Given the description of an element on the screen output the (x, y) to click on. 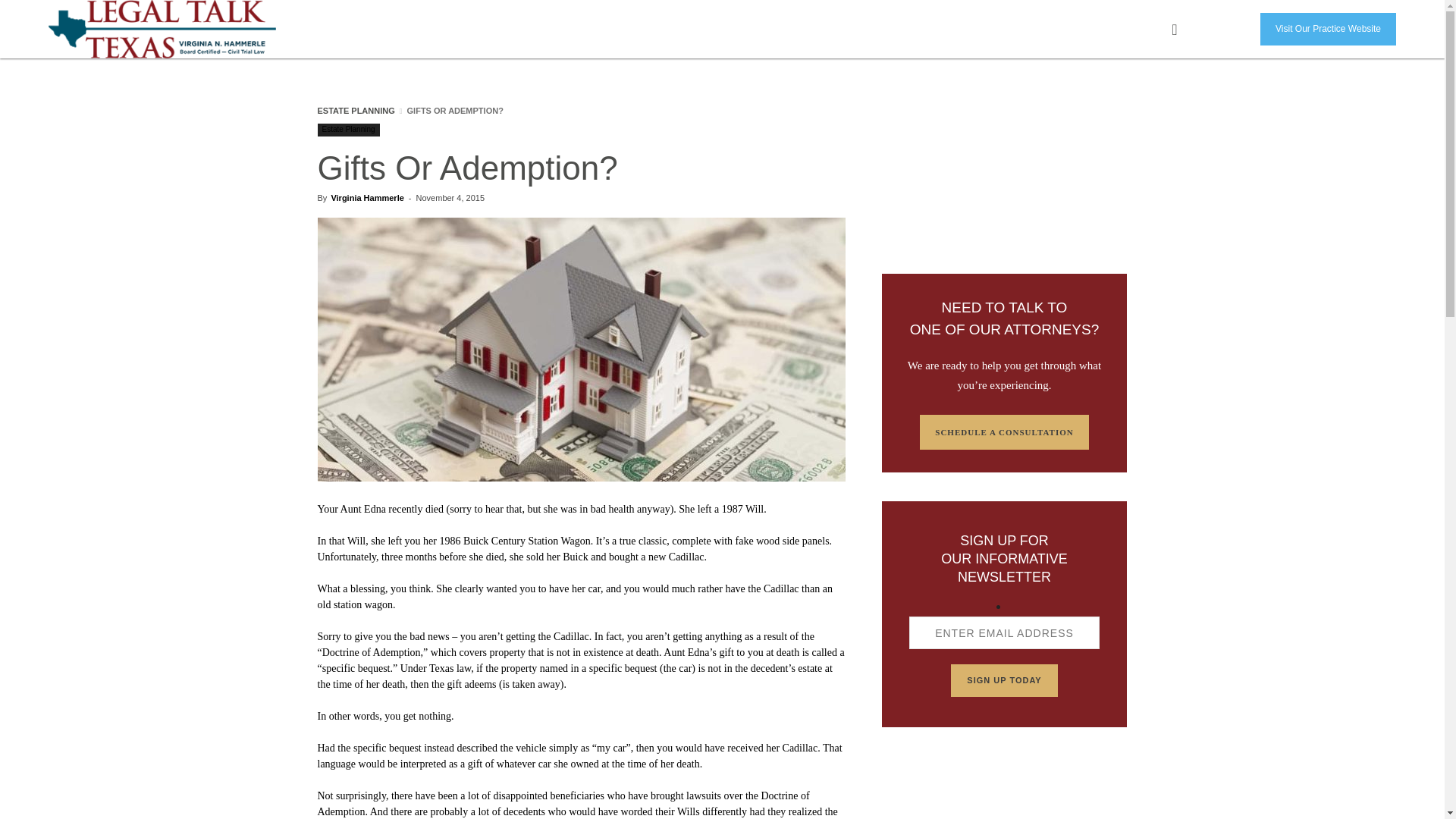
View all articles in Estate Planning (355, 110)
Visit Our Practice Website (1328, 29)
Sign Up Today (1003, 680)
Estate Planning (347, 129)
Virginia Hammerle (366, 197)
ESTATE PLANNING (355, 110)
